Given the description of an element on the screen output the (x, y) to click on. 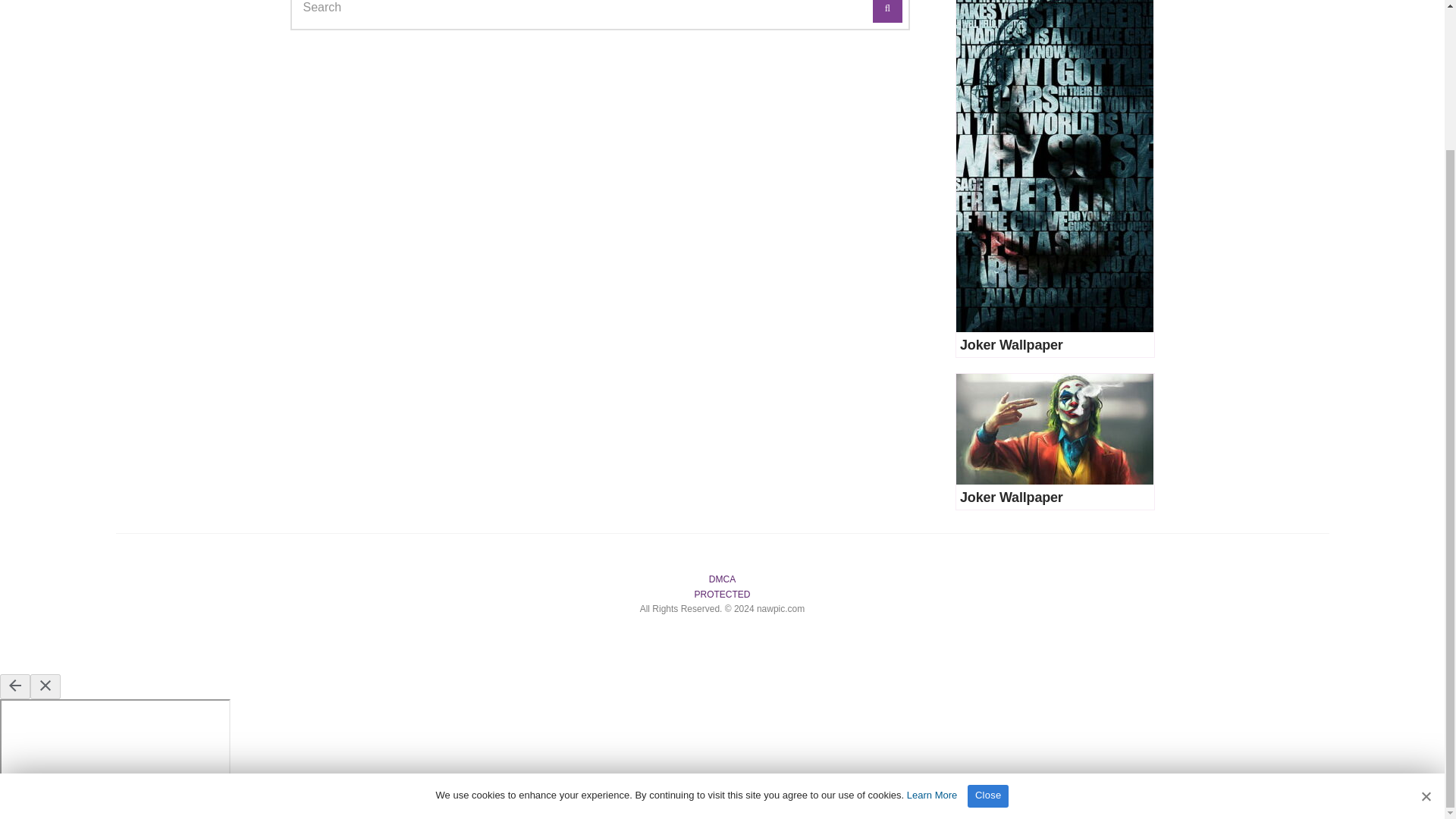
Joker Wallpaper (1010, 497)
DMCA (722, 579)
Joker Wallpaper (1054, 428)
Learn More (931, 622)
Joker Wallpaper (1010, 344)
DMCA (722, 579)
Joker Wallpaper (1054, 166)
Joker Wallpaper (1010, 344)
DMCA (721, 593)
Close (988, 622)
Search (887, 11)
PROTECTED (721, 593)
Joker Wallpaper (1010, 497)
